Given the description of an element on the screen output the (x, y) to click on. 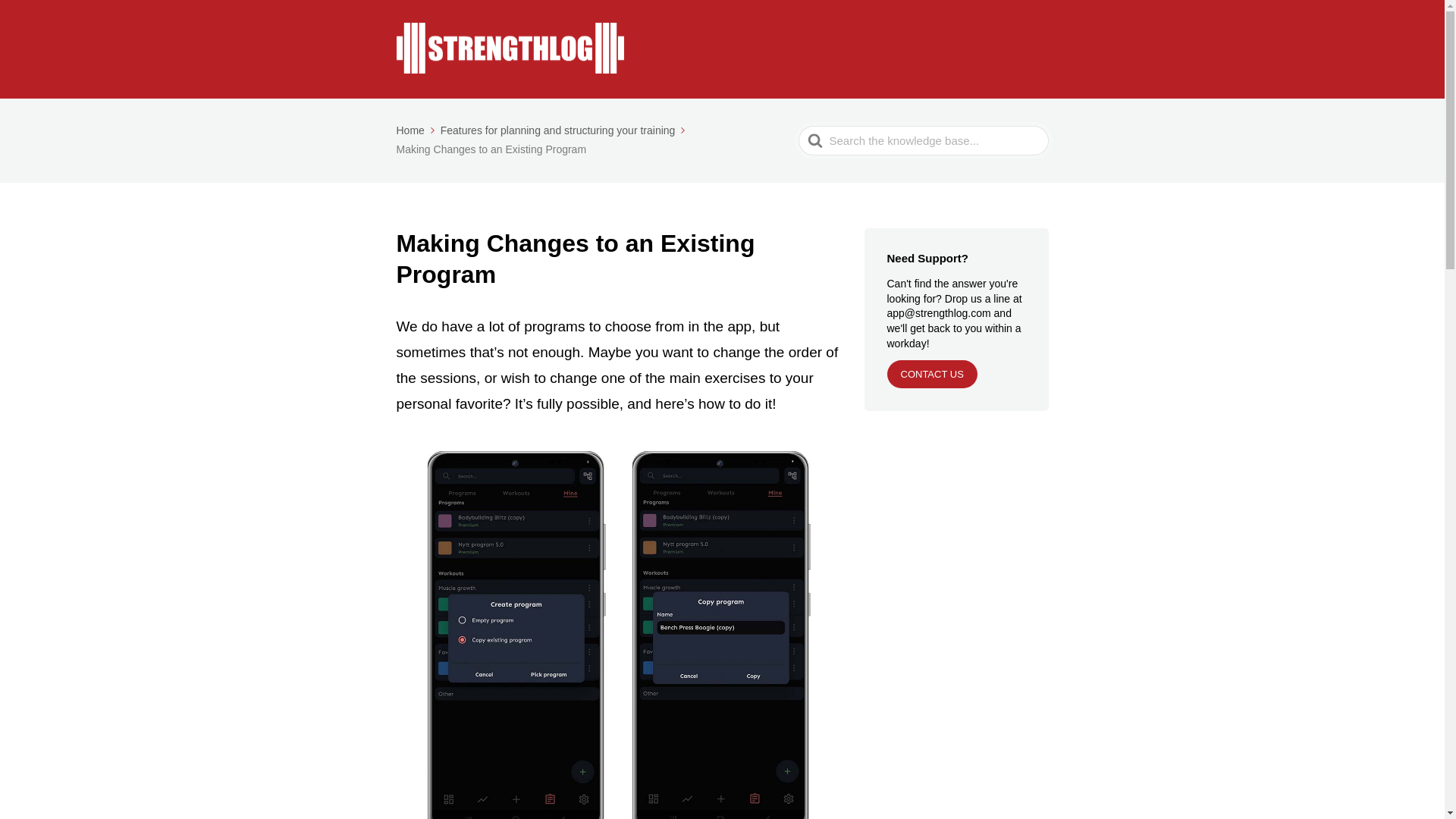
Features for planning and structuring your training (564, 130)
CONTACT US (931, 374)
Home (416, 130)
